Given the description of an element on the screen output the (x, y) to click on. 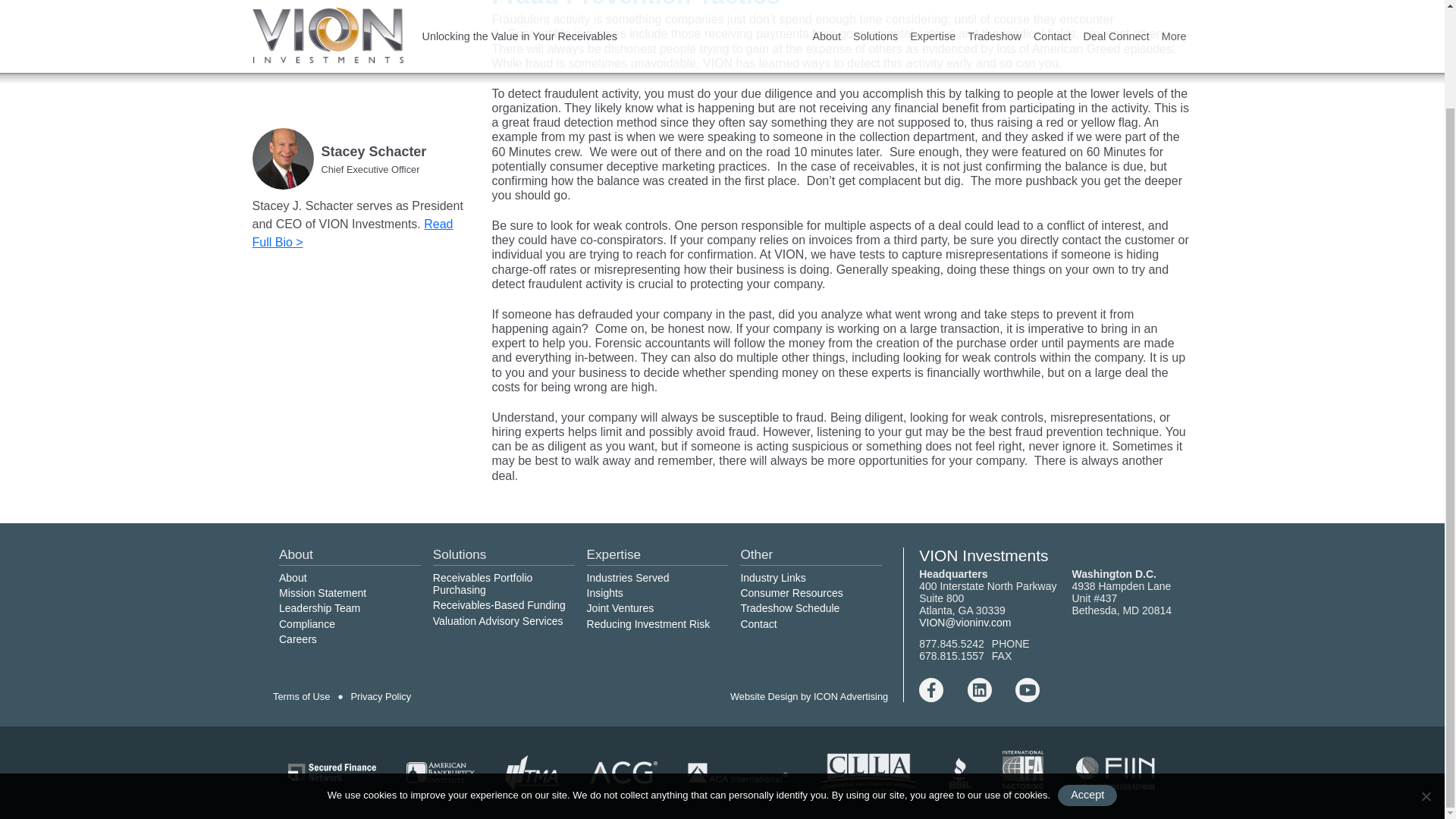
Receivables-Based Funding (499, 604)
Industries Served (627, 577)
Leadership Team (319, 607)
No (1425, 682)
Industry Links (772, 577)
Tradeshow Schedule (789, 607)
About (293, 577)
Receivables Portfolio Purchasing (482, 583)
Compliance (306, 623)
Consumer Resources (791, 592)
Joint Ventures (619, 607)
Careers (298, 639)
Reducing Investment Risk (648, 623)
Valuation Advisory Services (497, 620)
Mission Statement (322, 592)
